Given the description of an element on the screen output the (x, y) to click on. 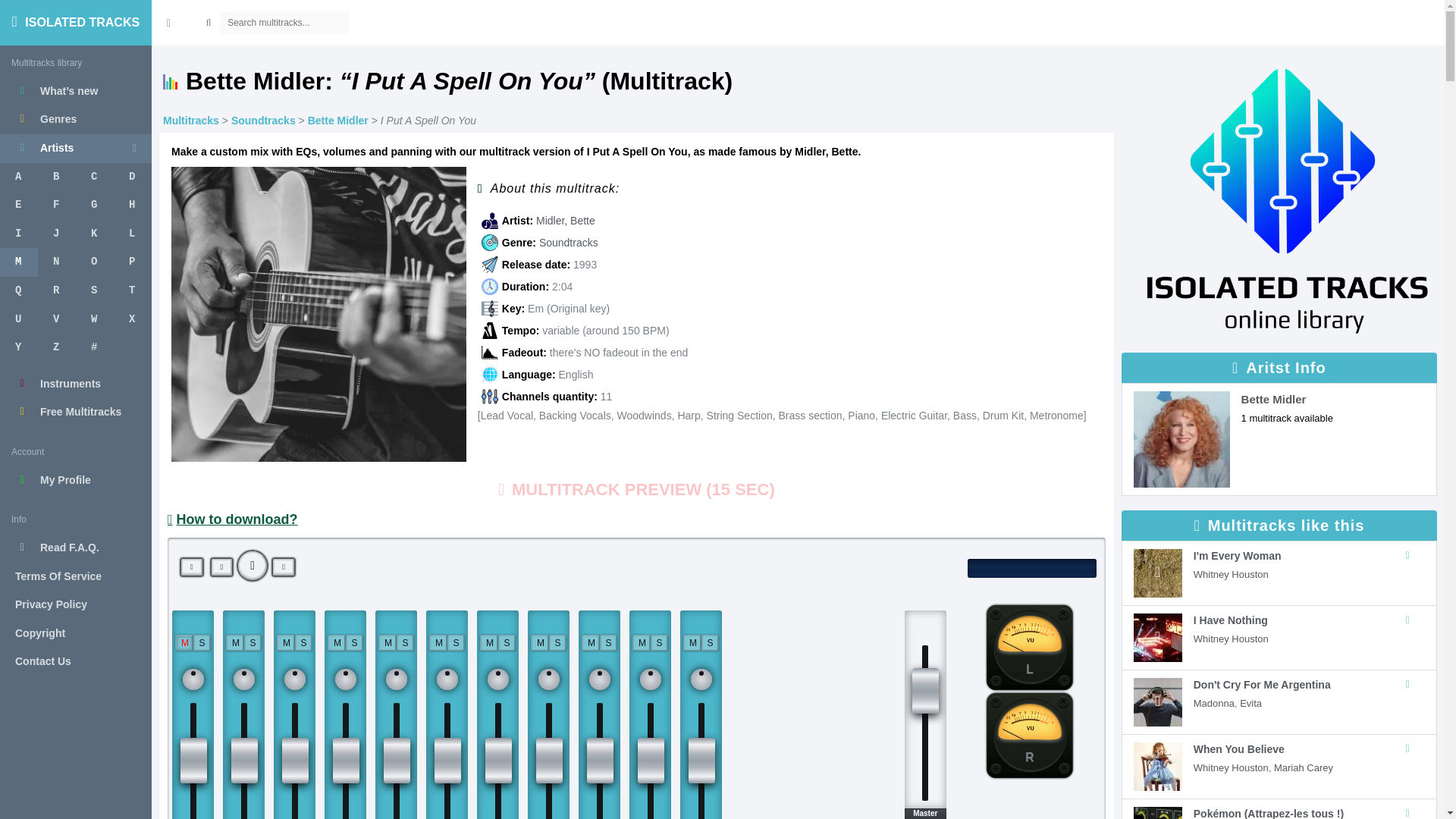
K (94, 234)
Artists on J (56, 234)
D (132, 176)
Artists on O (94, 262)
N (56, 262)
Artists on E (18, 205)
I (18, 234)
Artists on H (132, 205)
Read F.A.Q. (75, 547)
My Profile (75, 480)
Free Multitracks (75, 412)
Welcome to Professional Multitracks Library (75, 22)
J (56, 234)
Artists on K (94, 234)
E (18, 205)
